Given the description of an element on the screen output the (x, y) to click on. 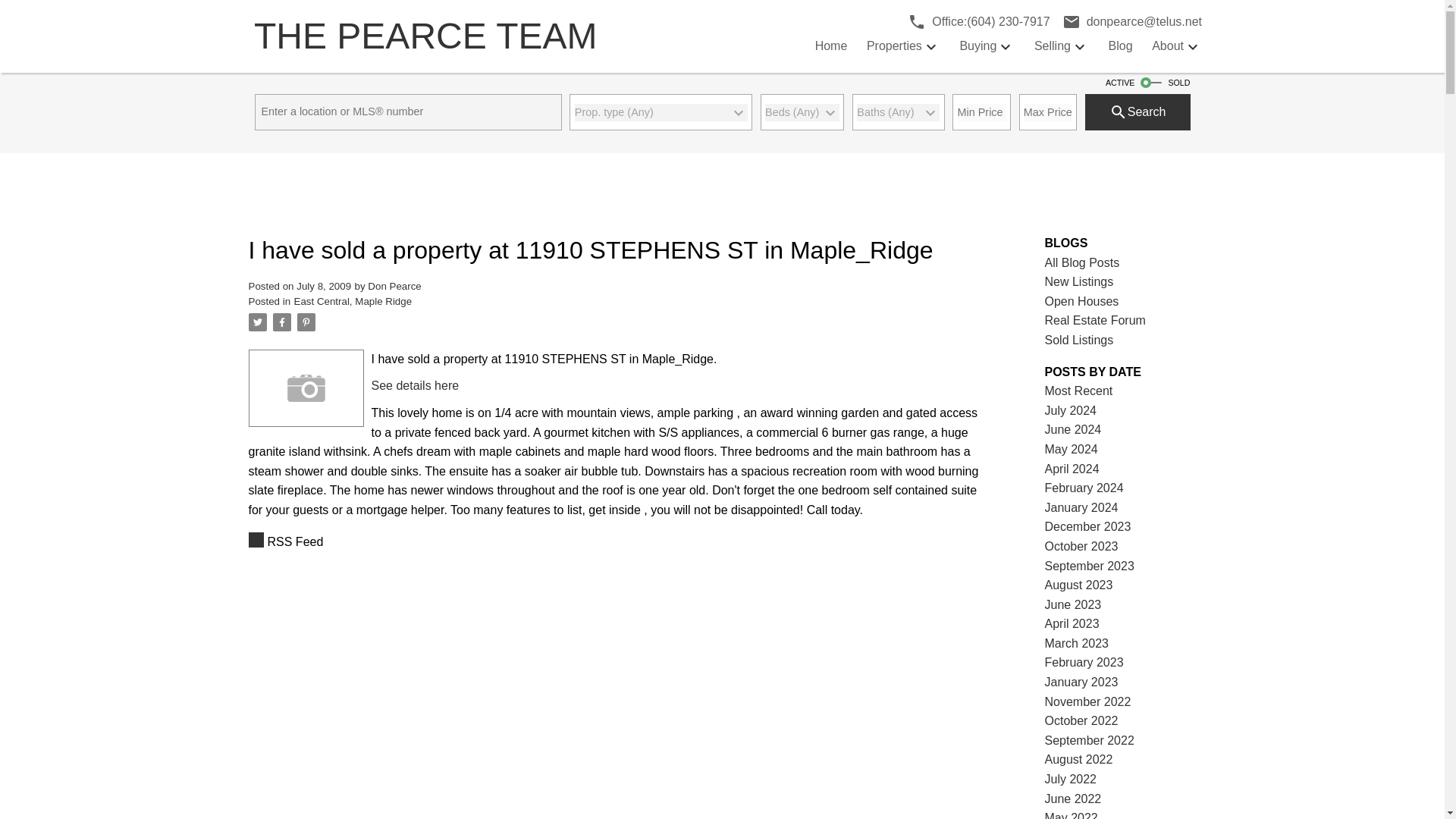
Most Recent (1079, 390)
All Blog Posts (1082, 262)
January 2024 (1081, 507)
New Listings (1079, 281)
May 2024 (1071, 449)
June 2024 (1073, 429)
Open Houses (1082, 300)
RSS (616, 542)
July 2024 (1071, 410)
THE PEARCE TEAM (477, 36)
April 2024 (1072, 468)
Home (831, 46)
February 2024 (1084, 487)
Sold Listings (1079, 339)
See details here (415, 385)
